Given the description of an element on the screen output the (x, y) to click on. 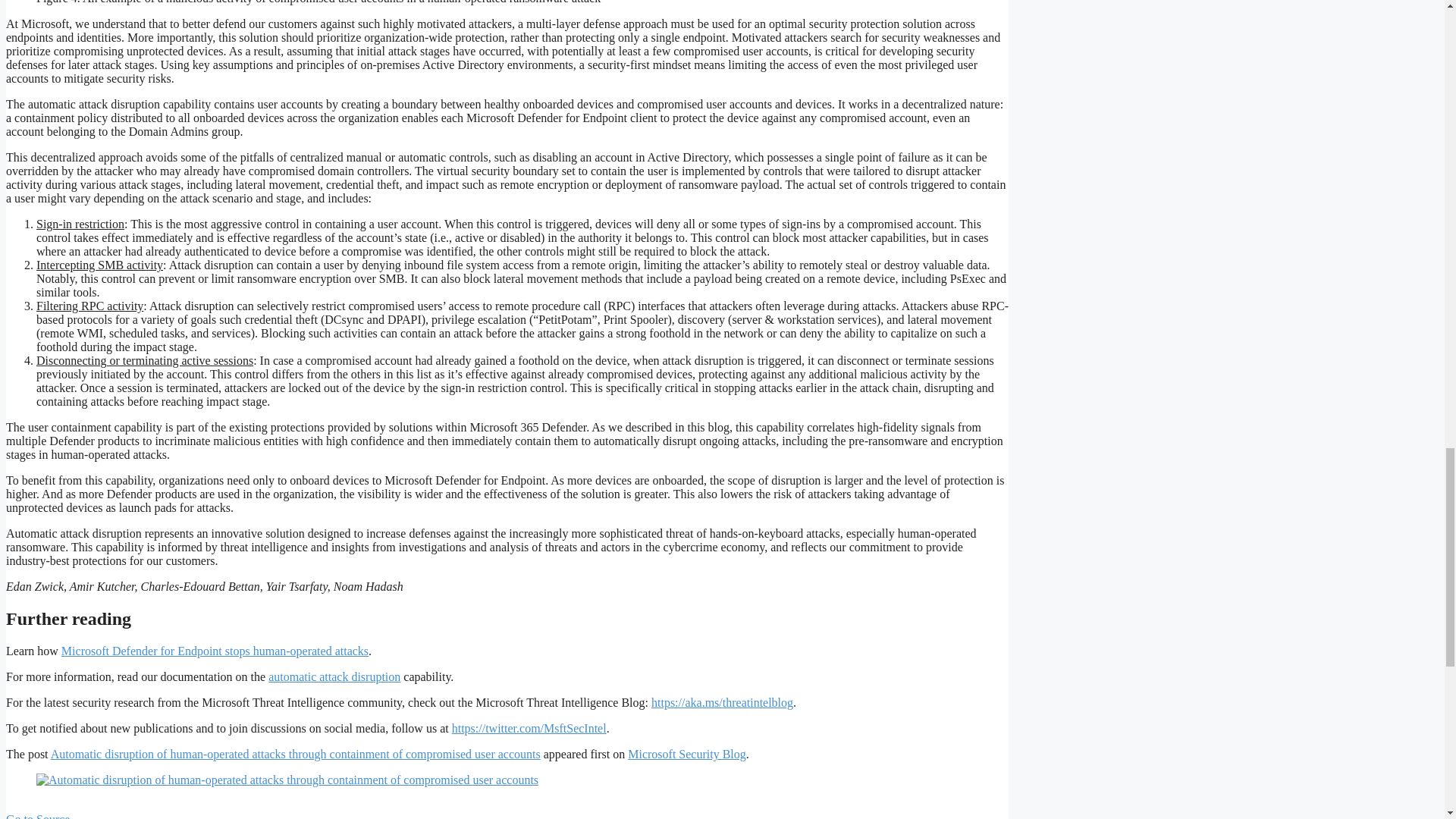
automatic attack disruption (333, 676)
Go to Source (37, 816)
Microsoft Defender for Endpoint stops human-operated attacks (214, 650)
Microsoft Security Blog (686, 753)
